Given the description of an element on the screen output the (x, y) to click on. 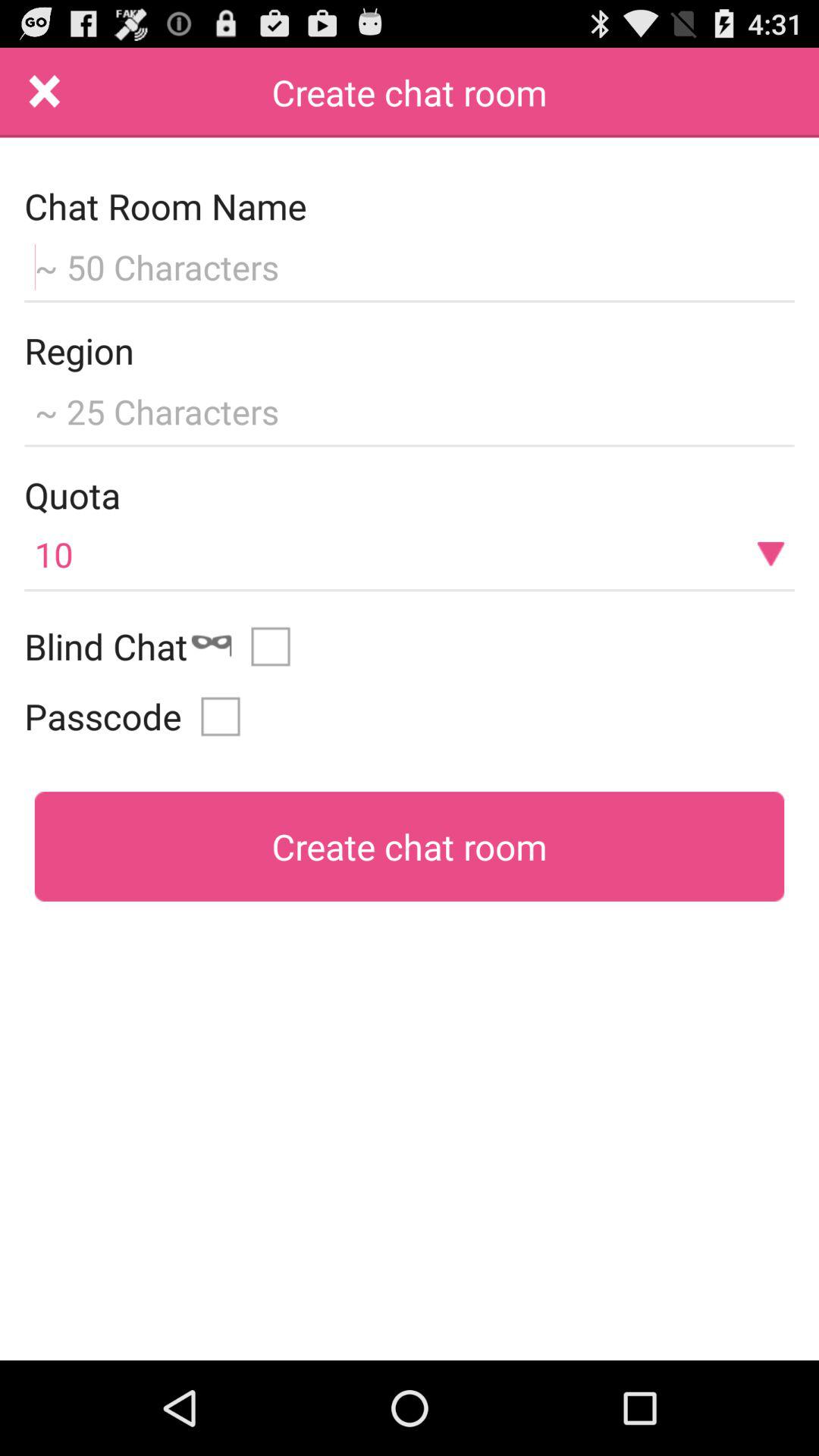
choose the app next to the create chat room app (44, 92)
